Given the description of an element on the screen output the (x, y) to click on. 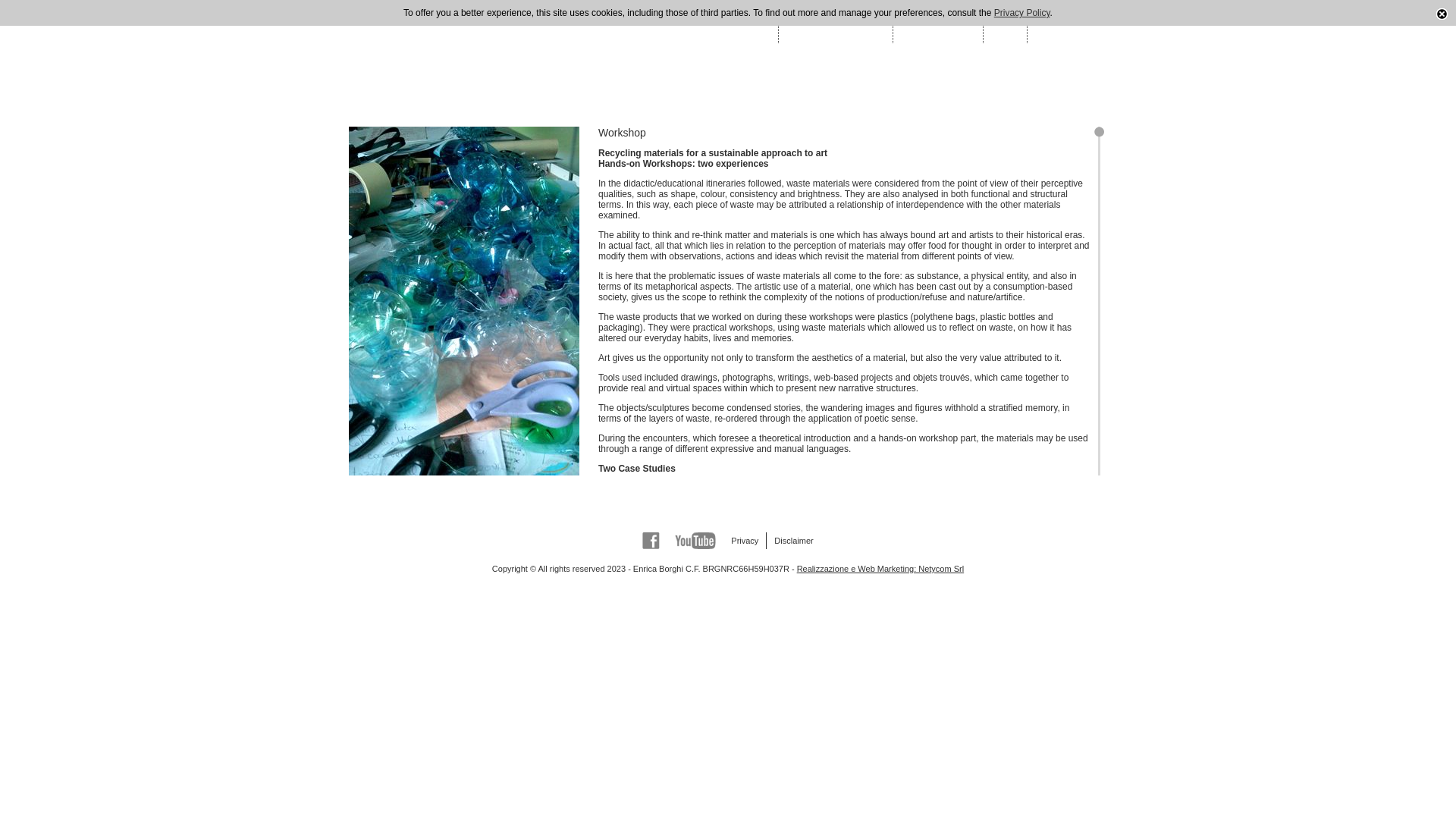
Home (756, 16)
Disclaimer (794, 540)
Privacy Policy (1021, 12)
Privacy (745, 540)
Youtube (694, 540)
News (1048, 16)
Realizzazione e Web Marketing: Netycom Srl (879, 568)
Facebook (650, 540)
